Given the description of an element on the screen output the (x, y) to click on. 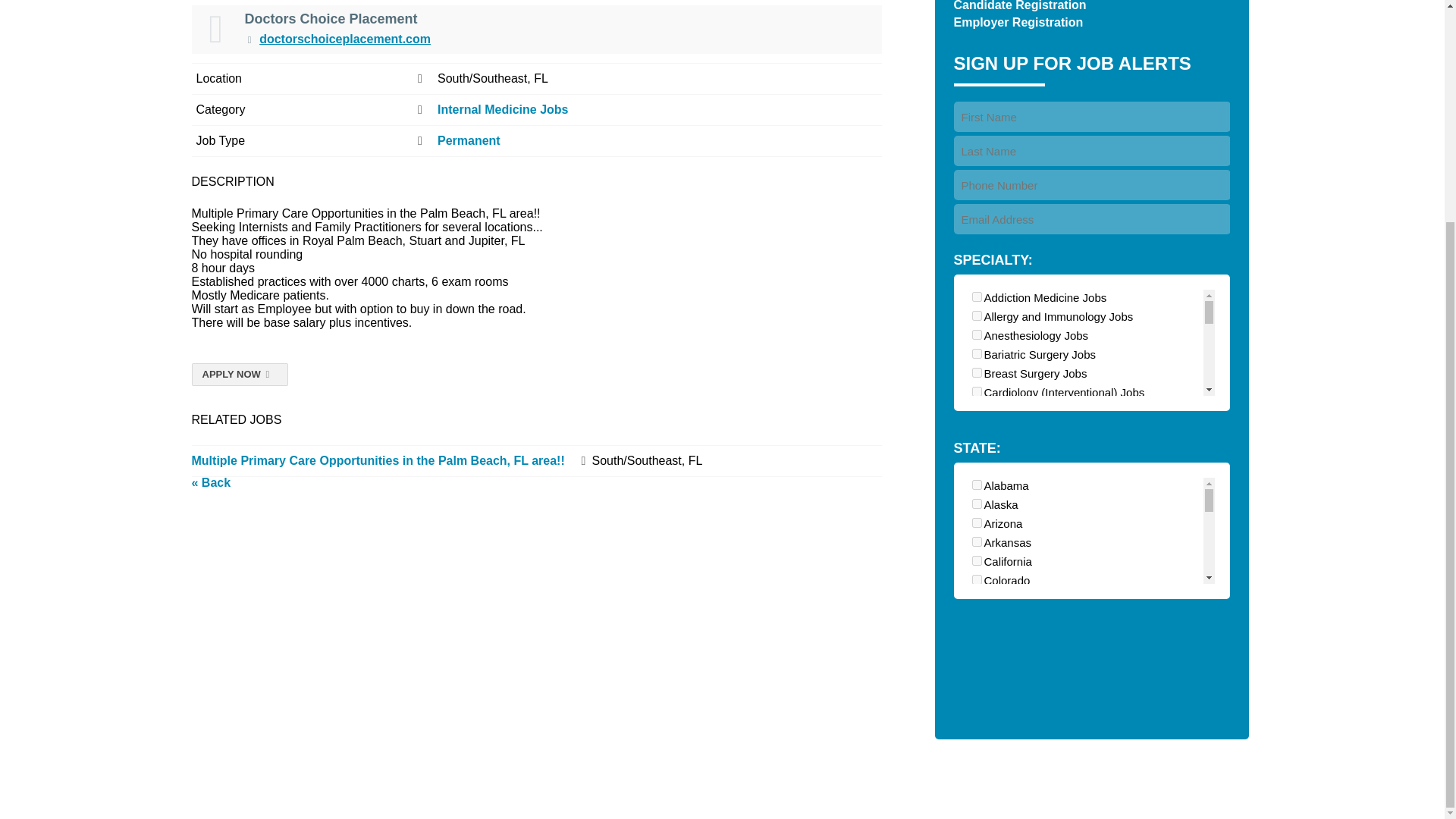
64 (976, 542)
38 (976, 448)
74 (976, 486)
22 (976, 391)
53 (976, 505)
29 (976, 372)
21 (976, 353)
79 (976, 467)
77 (976, 296)
70 (976, 316)
